Given the description of an element on the screen output the (x, y) to click on. 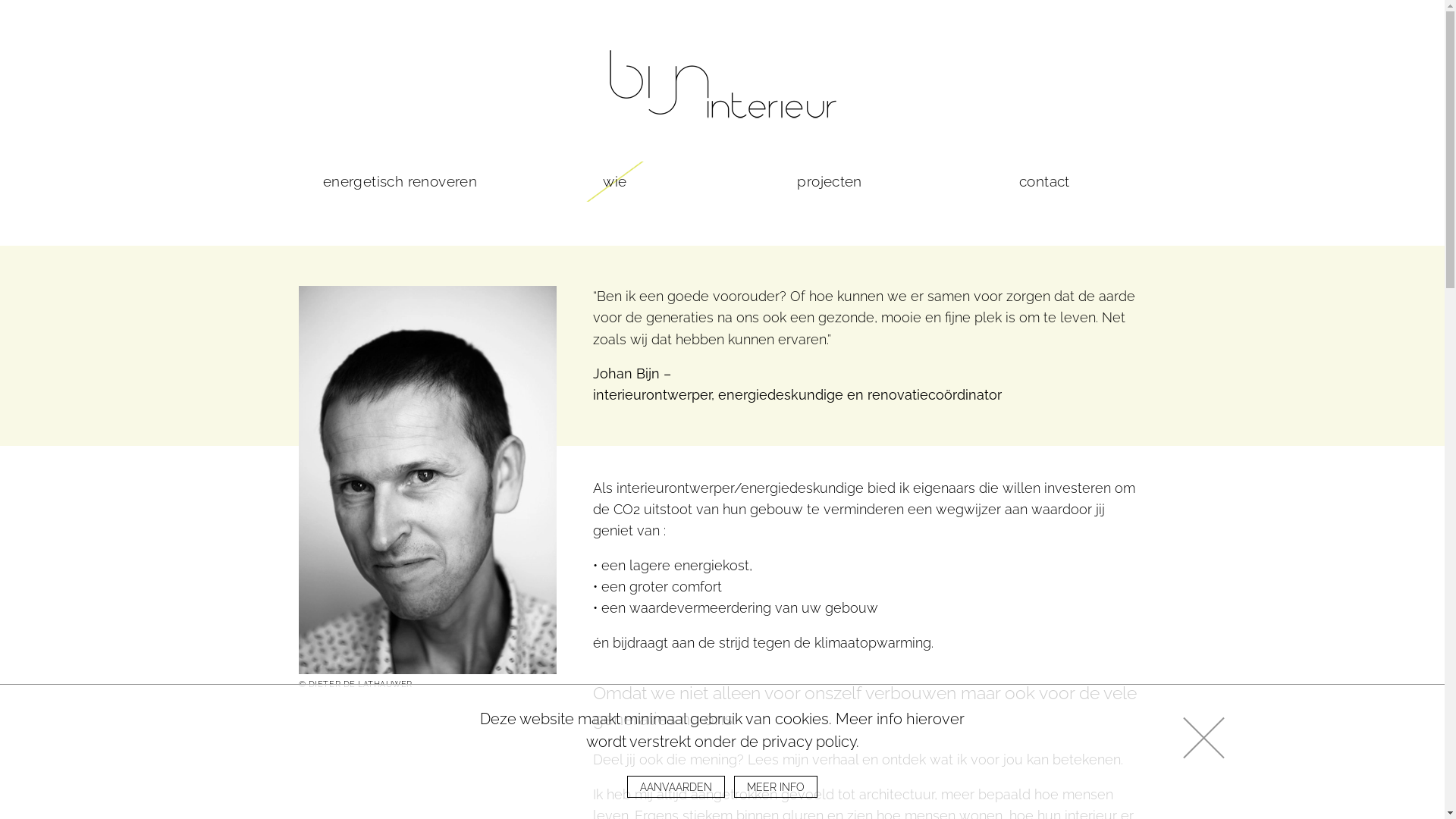
projecten Element type: text (829, 181)
johan-bijn-visie Element type: hover (427, 479)
Home Element type: hover (721, 83)
energetisch renoveren Element type: text (399, 181)
contact Element type: text (1044, 181)
MEER INFO Element type: text (775, 786)
wie Element type: text (614, 181)
AANVAARDEN Element type: text (675, 786)
